Given the description of an element on the screen output the (x, y) to click on. 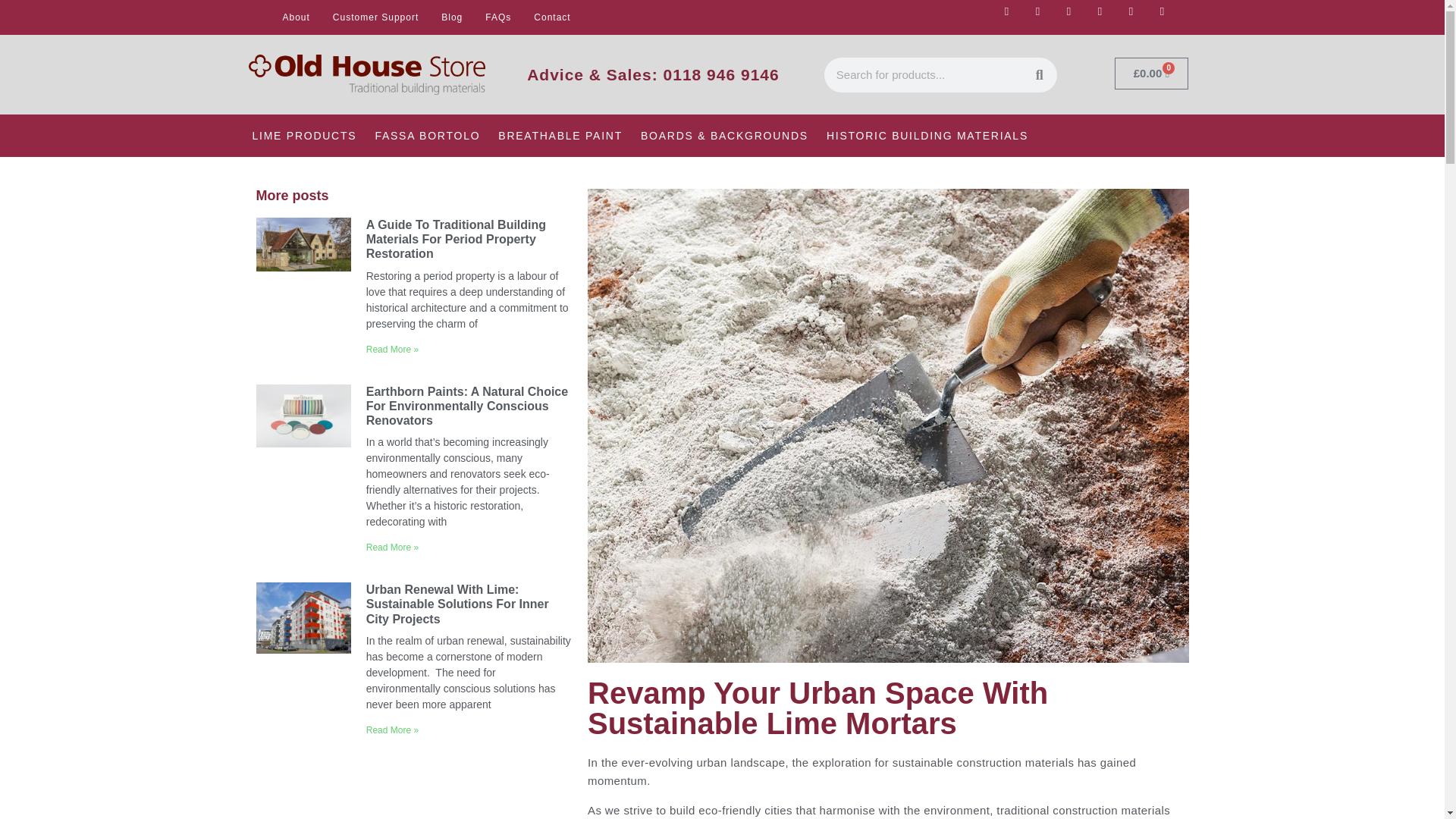
LIME PRODUCTS (304, 135)
FAQs (498, 17)
Customer Support (375, 17)
FASSA BORTOLO (427, 135)
HISTORIC BUILDING MATERIALS (927, 135)
About (295, 17)
Contact (551, 17)
Blog (451, 17)
BREATHABLE PAINT (560, 135)
